Given the description of an element on the screen output the (x, y) to click on. 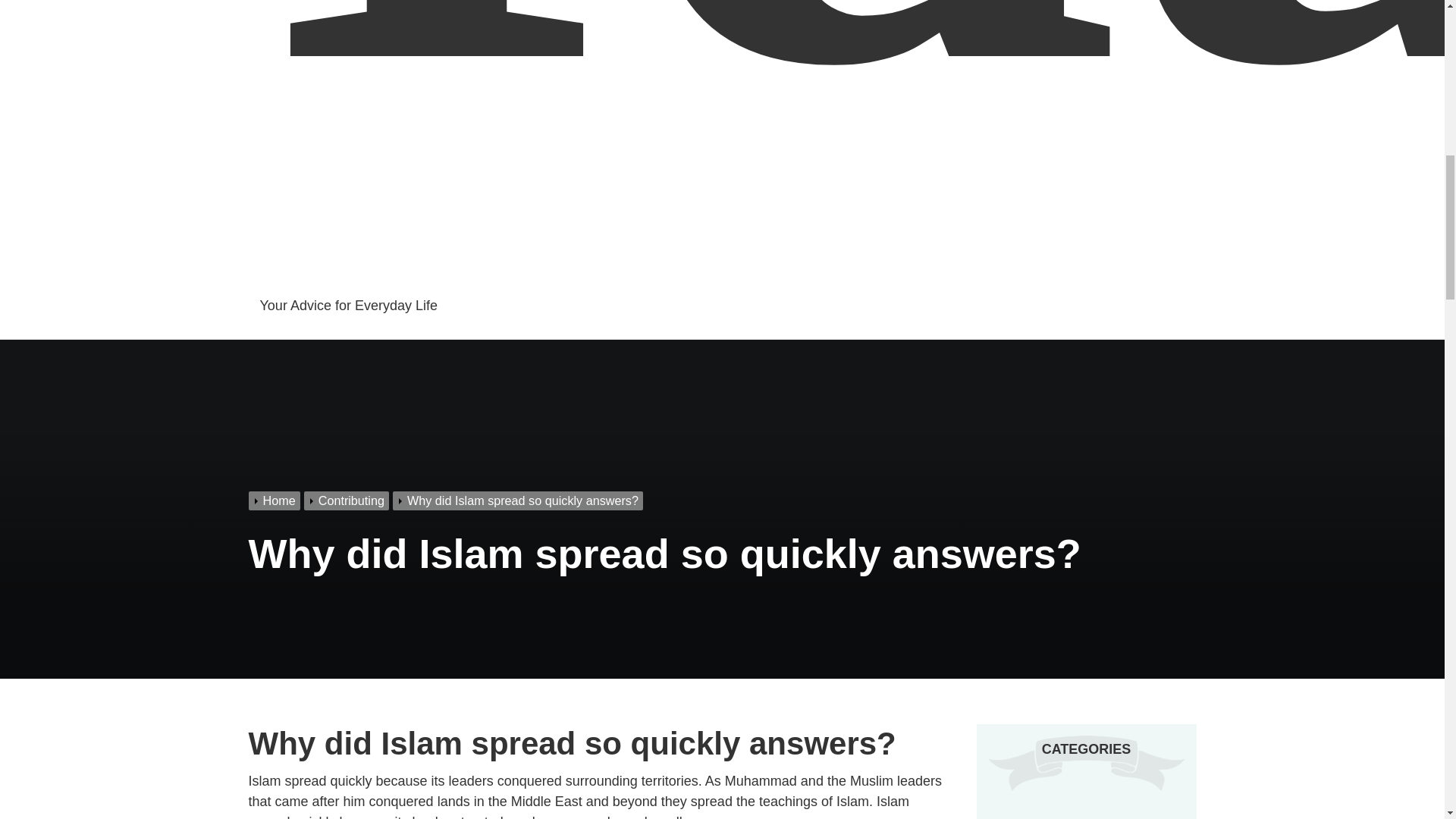
Why did Islam spread so quickly answers? (519, 499)
Home (276, 499)
Contributing (1038, 818)
Contributing (348, 499)
